Given the description of an element on the screen output the (x, y) to click on. 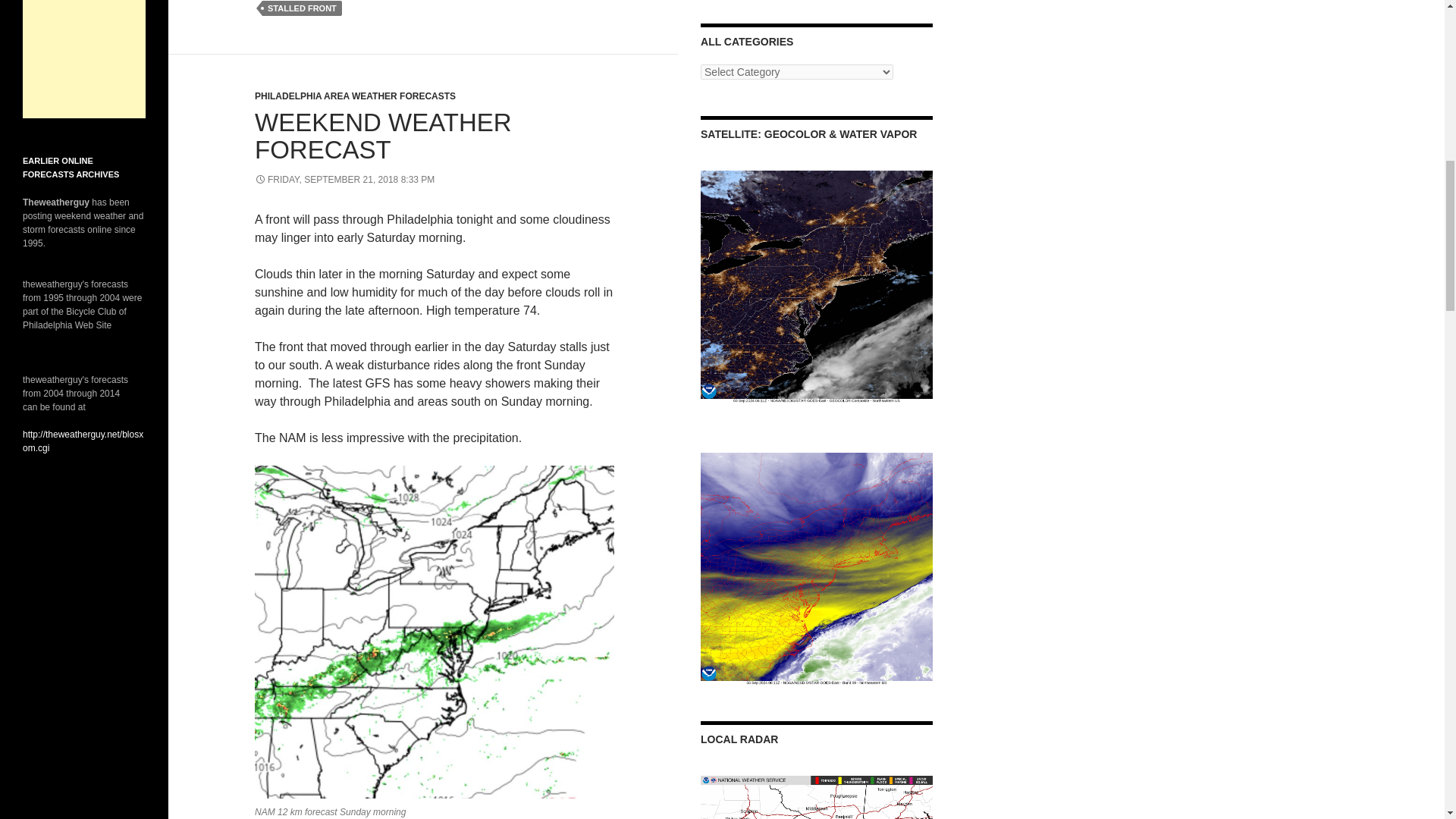
Advertisement (84, 58)
STALLED FRONT (302, 7)
PHILADELPHIA AREA WEATHER FORECASTS (354, 95)
WEEKEND WEATHER FORECAST (383, 135)
FRIDAY, SEPTEMBER 21, 2018 8:33 PM (343, 179)
